Given the description of an element on the screen output the (x, y) to click on. 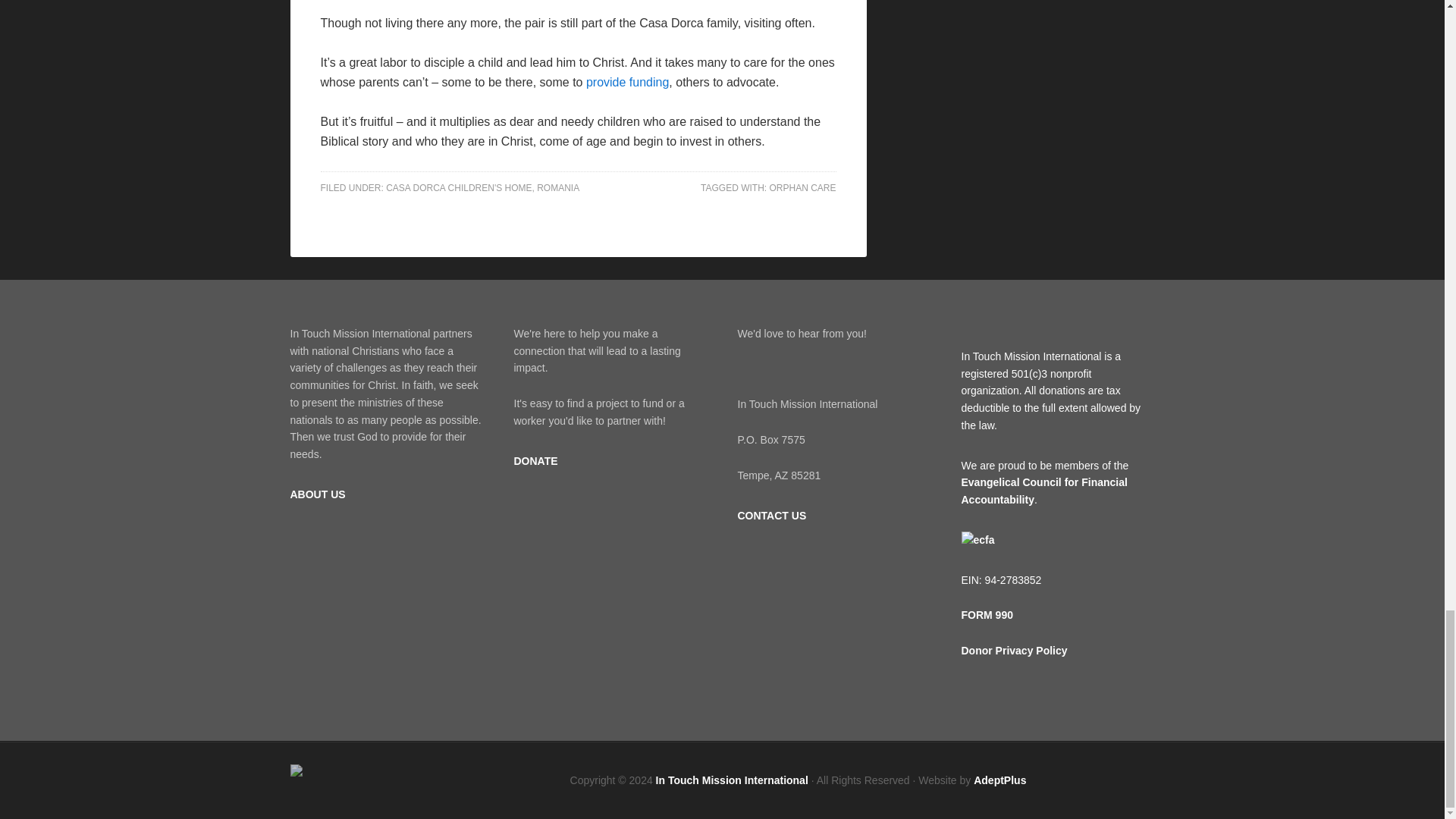
DONATE (535, 460)
provide funding (627, 82)
CASA DORCA CHILDREN'S HOME (458, 187)
In Touch Mission International (732, 779)
Custom Web Design (1000, 779)
ABOUT US (317, 494)
ROMANIA (558, 187)
ORPHAN CARE (801, 187)
